Given the description of an element on the screen output the (x, y) to click on. 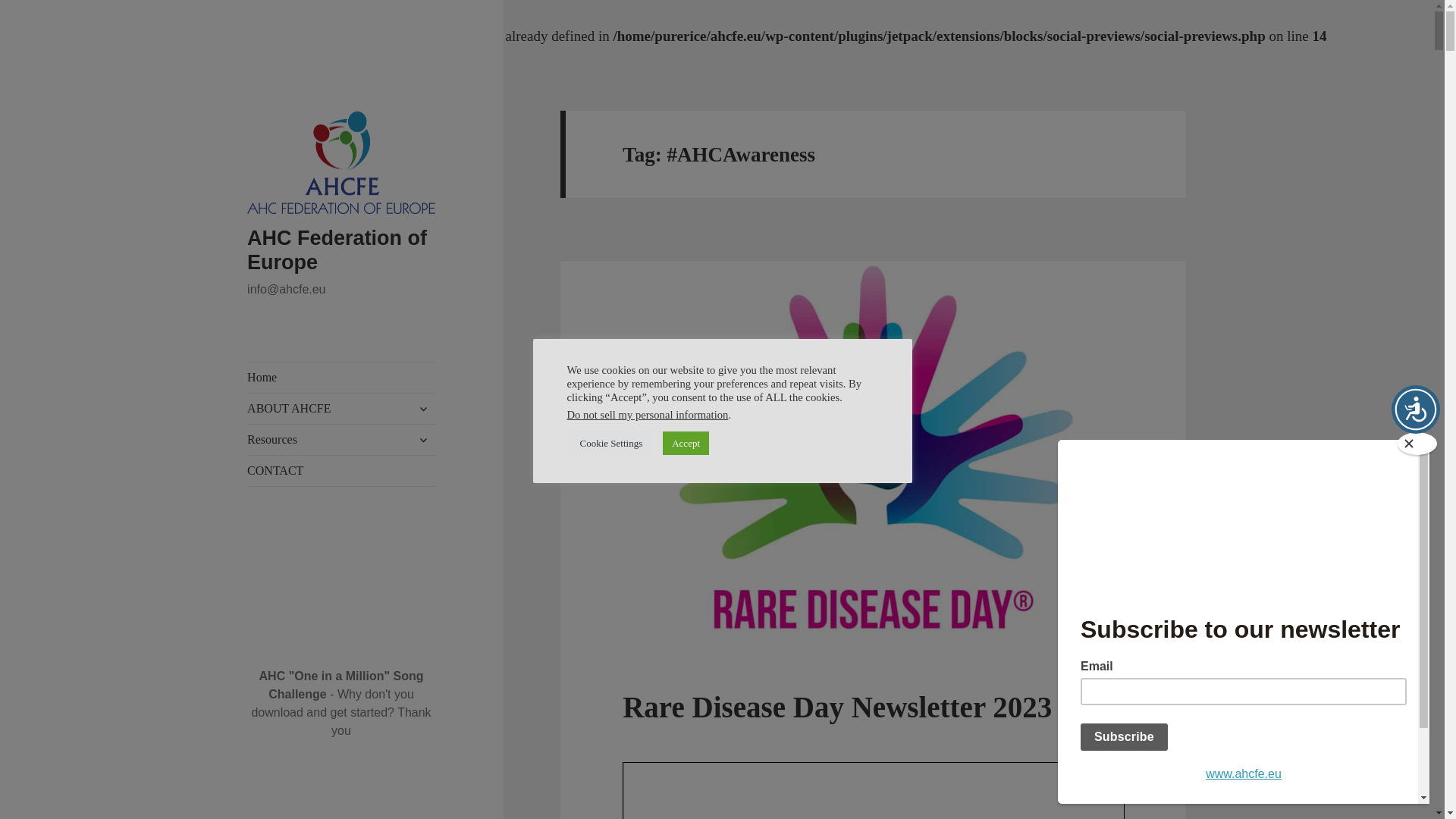
ABOUT AHCFE (341, 408)
expand child menu (422, 408)
AHC Federation of Europe (336, 249)
Home (341, 377)
Resources (341, 440)
expand child menu (422, 439)
CONTACT (341, 470)
Human Timebombs - Grand Prize Winner at Neuro Film Festival (341, 814)
